Given the description of an element on the screen output the (x, y) to click on. 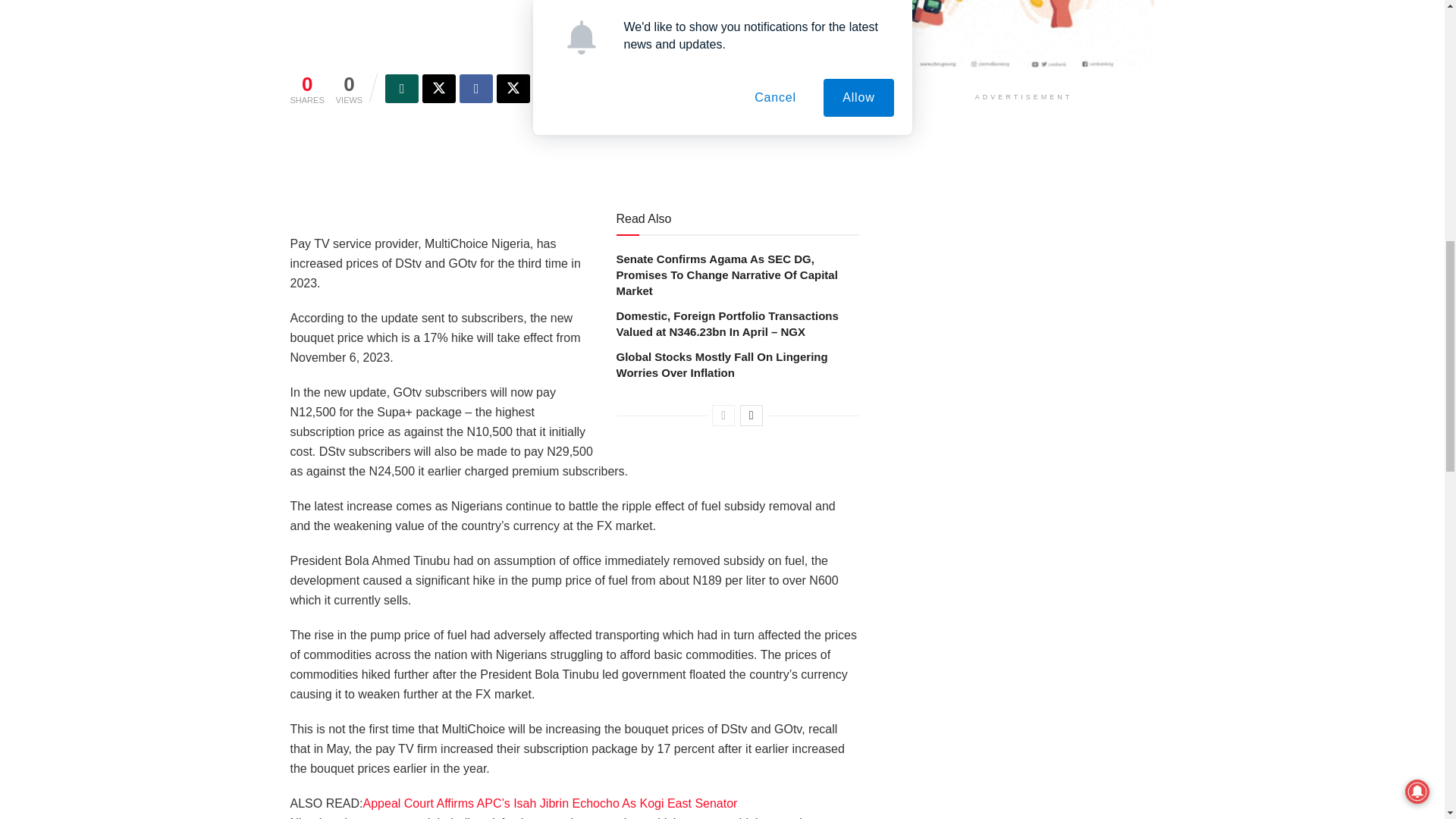
Next (750, 414)
Previous (723, 414)
